Given the description of an element on the screen output the (x, y) to click on. 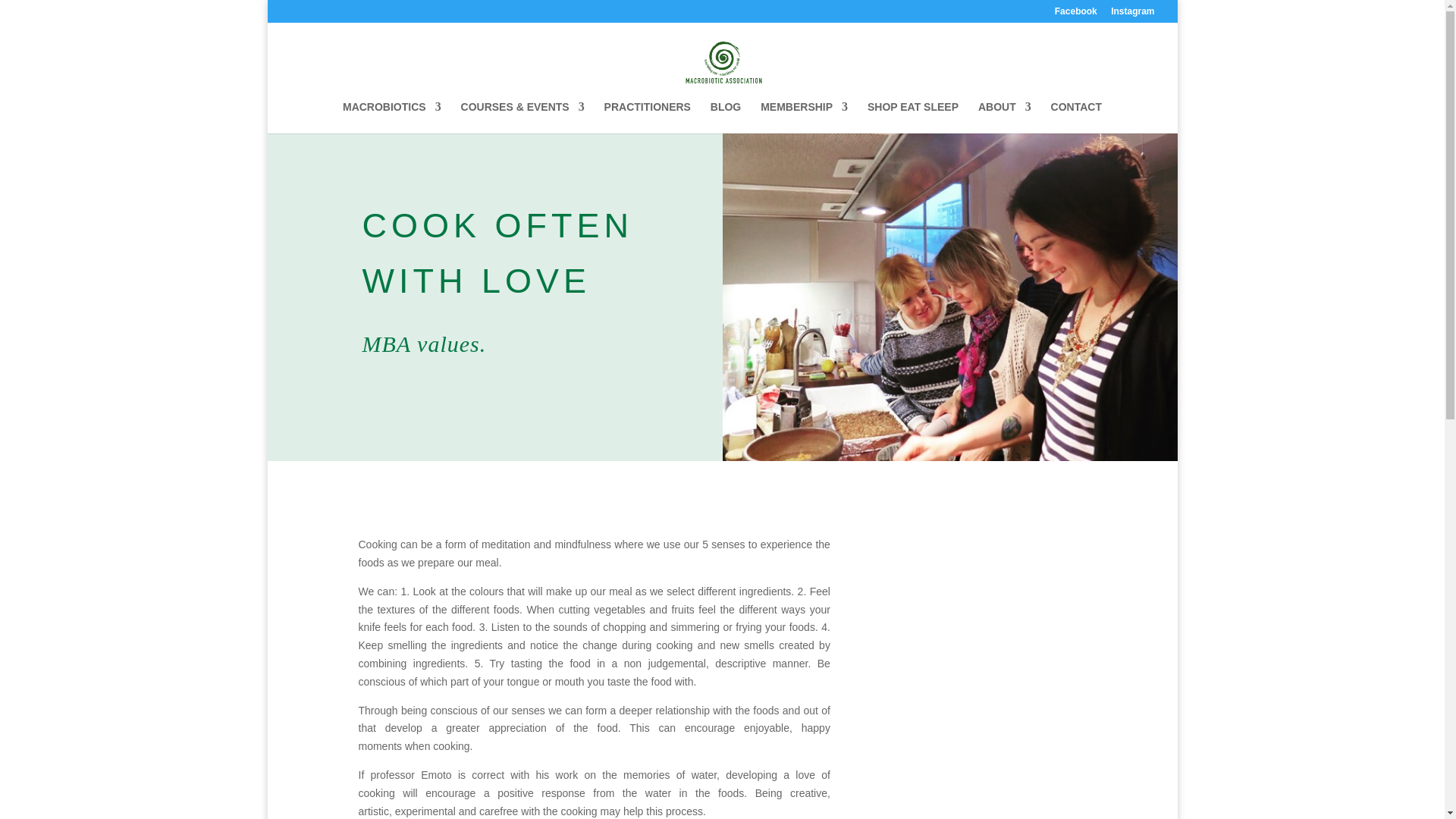
Page 1 (593, 677)
MEMBERSHIP (803, 117)
MACROBIOTICS (391, 117)
SHOP EAT SLEEP (912, 117)
ABOUT (1004, 117)
PRACTITIONERS (647, 117)
Instagram (1132, 14)
BLOG (725, 117)
Facebook (1075, 14)
CONTACT (1076, 117)
